Given the description of an element on the screen output the (x, y) to click on. 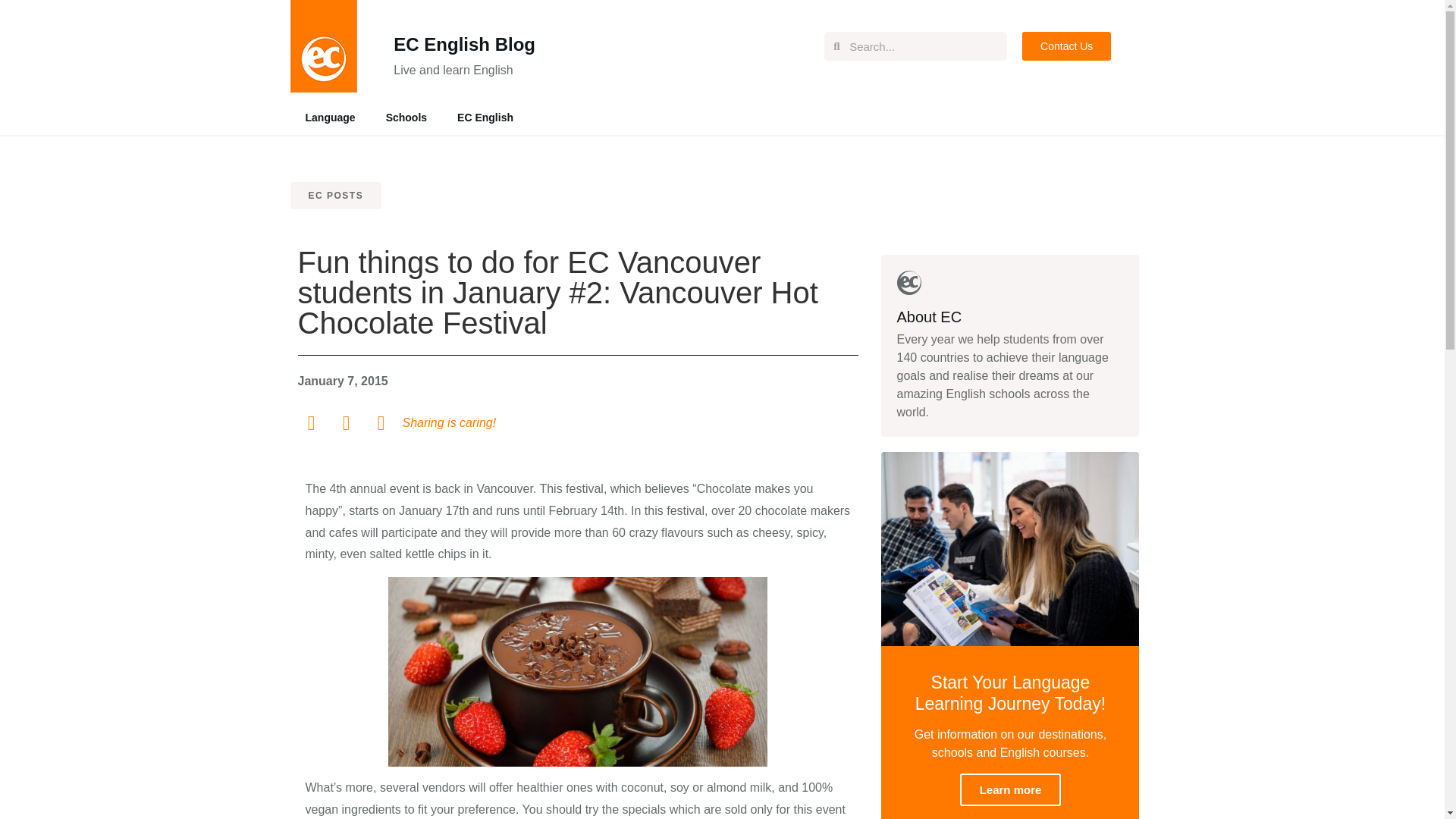
Vancouver Hot Chocolate Festival (577, 671)
Schools (406, 117)
Language (329, 117)
EC English (485, 117)
Contact Us (1066, 45)
